Given the description of an element on the screen output the (x, y) to click on. 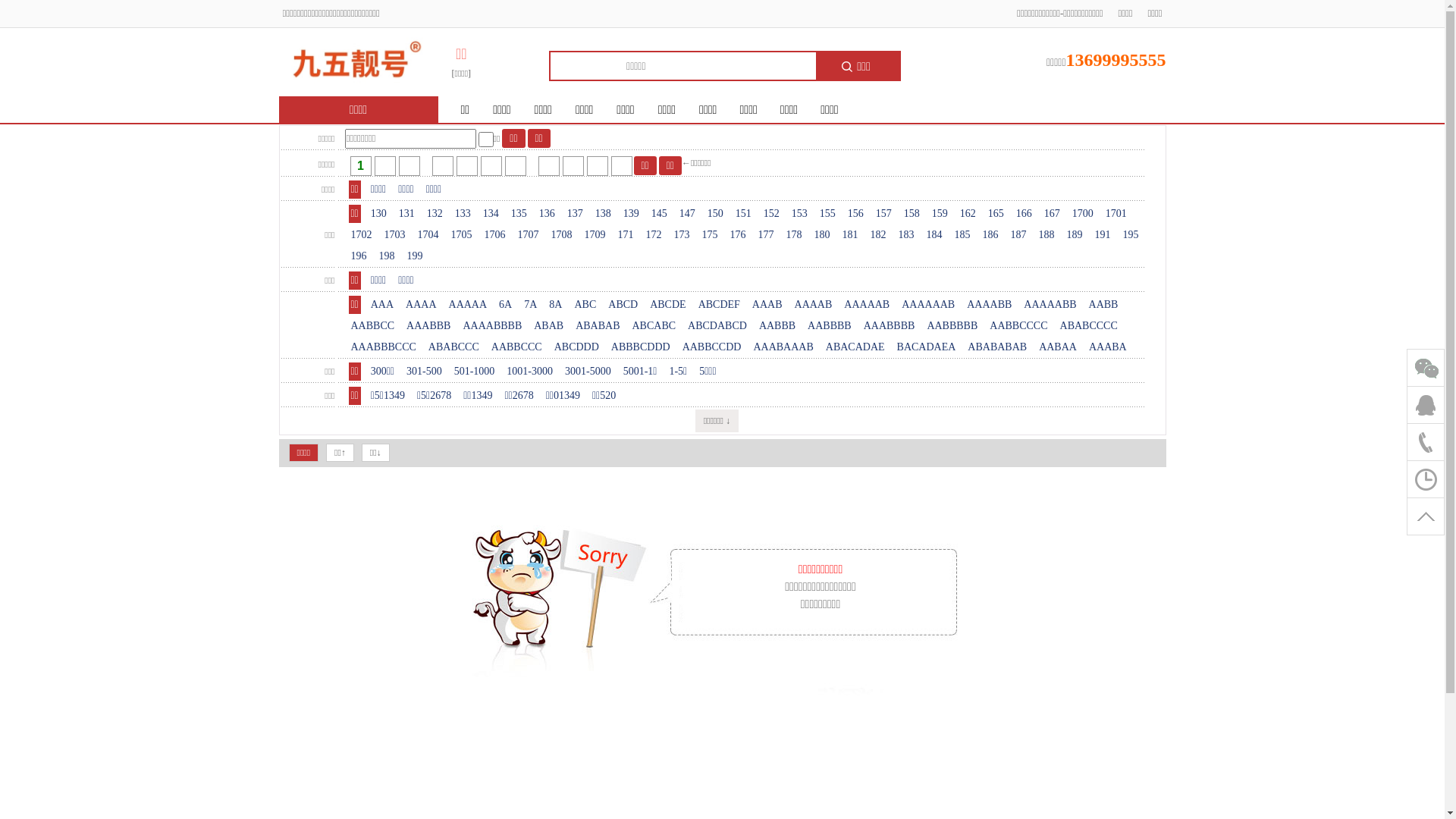
176 Element type: text (738, 234)
130 Element type: text (378, 213)
AABBBB Element type: text (829, 325)
145 Element type: text (659, 213)
167 Element type: text (1051, 213)
184 Element type: text (933, 234)
166 Element type: text (1023, 213)
165 Element type: text (995, 213)
BACADAEA Element type: text (926, 347)
196 Element type: text (358, 256)
178 Element type: text (794, 234)
1701 Element type: text (1116, 213)
186 Element type: text (989, 234)
173 Element type: text (681, 234)
AAA Element type: text (381, 304)
AABBCCDD Element type: text (711, 347)
AAABBBCCC Element type: text (383, 347)
185 Element type: text (962, 234)
ABCD Element type: text (622, 304)
189 Element type: text (1074, 234)
AAAA Element type: text (420, 304)
ABABCCCC Element type: text (1088, 325)
158 Element type: text (911, 213)
AAAAB Element type: text (813, 304)
AABBCCC Element type: text (516, 347)
199 Element type: text (414, 256)
147 Element type: text (687, 213)
138 Element type: text (603, 213)
AAAAAB Element type: text (866, 304)
AAAABBBB Element type: text (492, 325)
134 Element type: text (490, 213)
AABB Element type: text (1103, 304)
172 Element type: text (653, 234)
ABABCCC Element type: text (453, 347)
8A Element type: text (555, 304)
301-500 Element type: text (424, 371)
AAAAA Element type: text (467, 304)
150 Element type: text (715, 213)
501-1000 Element type: text (474, 371)
AABBCC Element type: text (372, 325)
180 Element type: text (821, 234)
AAAB Element type: text (766, 304)
1708 Element type: text (561, 234)
1001-3000 Element type: text (529, 371)
AAABBBB Element type: text (889, 325)
ABABAB Element type: text (597, 325)
ABABABAB Element type: text (997, 347)
198 Element type: text (386, 256)
182 Element type: text (877, 234)
3001-5000 Element type: text (587, 371)
ABCDABCD Element type: text (717, 325)
175 Element type: text (709, 234)
135 Element type: text (518, 213)
136 Element type: text (546, 213)
183 Element type: text (906, 234)
ABCDEF Element type: text (719, 304)
171 Element type: text (625, 234)
ABBBCDDD Element type: text (640, 347)
ABAB Element type: text (548, 325)
1706 Element type: text (495, 234)
ABACADAE Element type: text (855, 347)
157 Element type: text (883, 213)
ABC Element type: text (584, 304)
195 Element type: text (1130, 234)
6A Element type: text (505, 304)
162 Element type: text (967, 213)
AAAAAAB Element type: text (928, 304)
181 Element type: text (850, 234)
156 Element type: text (855, 213)
ABCABC Element type: text (653, 325)
155 Element type: text (827, 213)
AAABA Element type: text (1107, 347)
1700 Element type: text (1082, 213)
ABCDDD Element type: text (576, 347)
AAABAAAB Element type: text (782, 347)
7A Element type: text (530, 304)
AAAAABB Element type: text (1049, 304)
137 Element type: text (574, 213)
AAABBB Element type: text (428, 325)
132 Element type: text (434, 213)
1709 Element type: text (595, 234)
133 Element type: text (462, 213)
AAAABB Element type: text (988, 304)
177 Element type: text (765, 234)
1702 Element type: text (361, 234)
AABBB Element type: text (776, 325)
153 Element type: text (799, 213)
187 Element type: text (1018, 234)
AABAA Element type: text (1057, 347)
152 Element type: text (771, 213)
151 Element type: text (743, 213)
AABBBBB Element type: text (951, 325)
AABBCCCC Element type: text (1018, 325)
139 Element type: text (631, 213)
159 Element type: text (939, 213)
1703 Element type: text (394, 234)
188 Element type: text (1045, 234)
1707 Element type: text (528, 234)
1705 Element type: text (461, 234)
1704 Element type: text (428, 234)
ABCDE Element type: text (667, 304)
131 Element type: text (406, 213)
191 Element type: text (1102, 234)
